Given the description of an element on the screen output the (x, y) to click on. 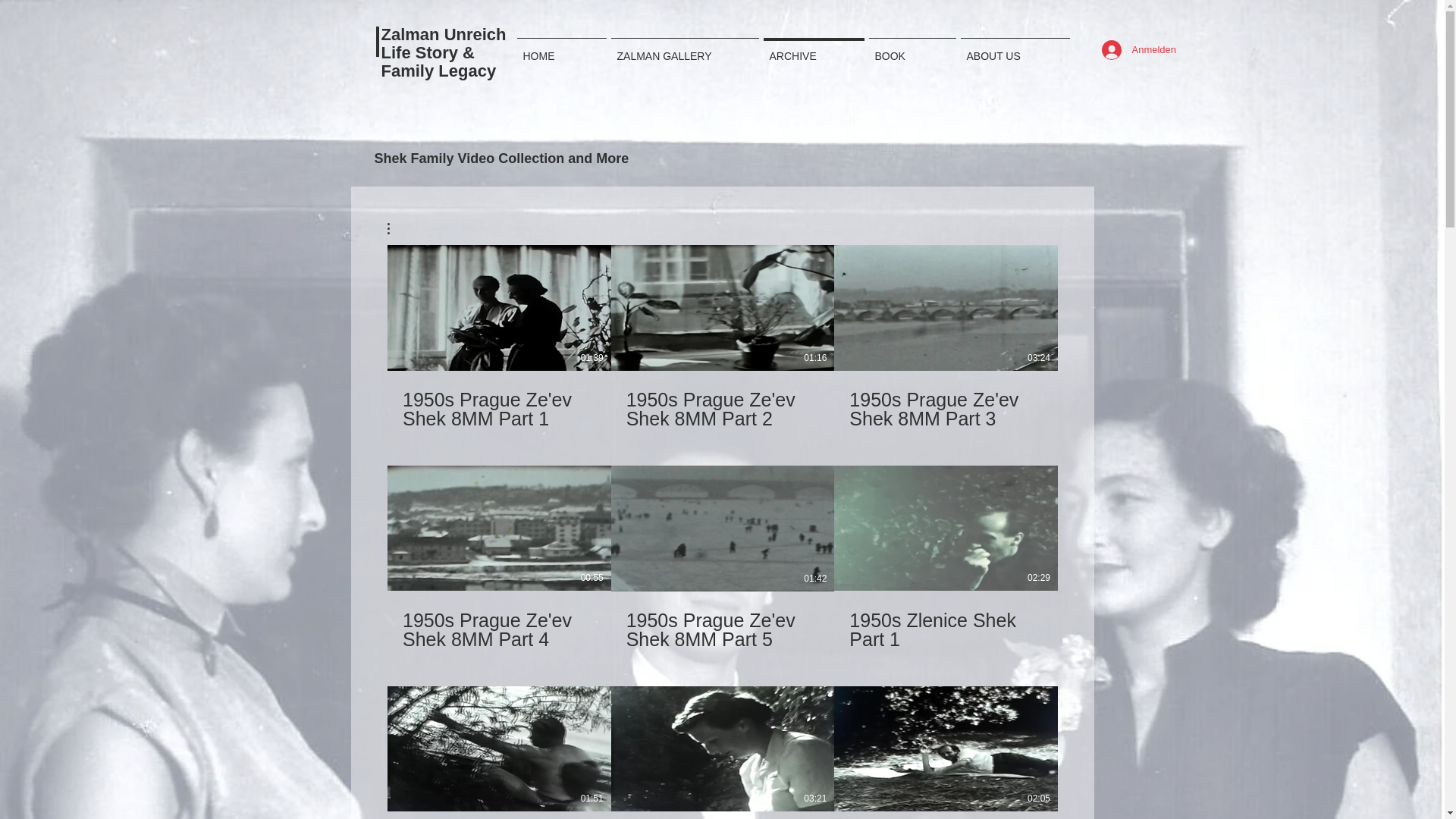
1950s Prague Ze'ev Shek 8MM Part 2 (722, 409)
1950s Prague Ze'ev Shek 8MM Part 5 (722, 629)
1950s Prague Ze'ev Shek 8MM Part 4 (498, 629)
1950s Prague Ze'ev Shek 8MM Part 1 (498, 409)
BOOK (912, 48)
1950s Zlenice Shek Part 1 (946, 620)
1950s Zlenice Shek Part 4 (946, 815)
ZALMAN GALLERY (684, 48)
1950s Zlenice Shek Part 3 (722, 815)
1950s Prague Ze'ev Shek 8MM Part 2 (722, 400)
1950s Prague Ze'ev Shek 8MM Part 3 (946, 400)
ABOUT US (1014, 48)
1950s Prague Ze'ev Shek 8MM Part 1 (498, 400)
1950s Prague Ze'ev Shek 8MM Part 4 (498, 620)
1950s Zlenice Shek Part 1 (945, 629)
